Given the description of an element on the screen output the (x, y) to click on. 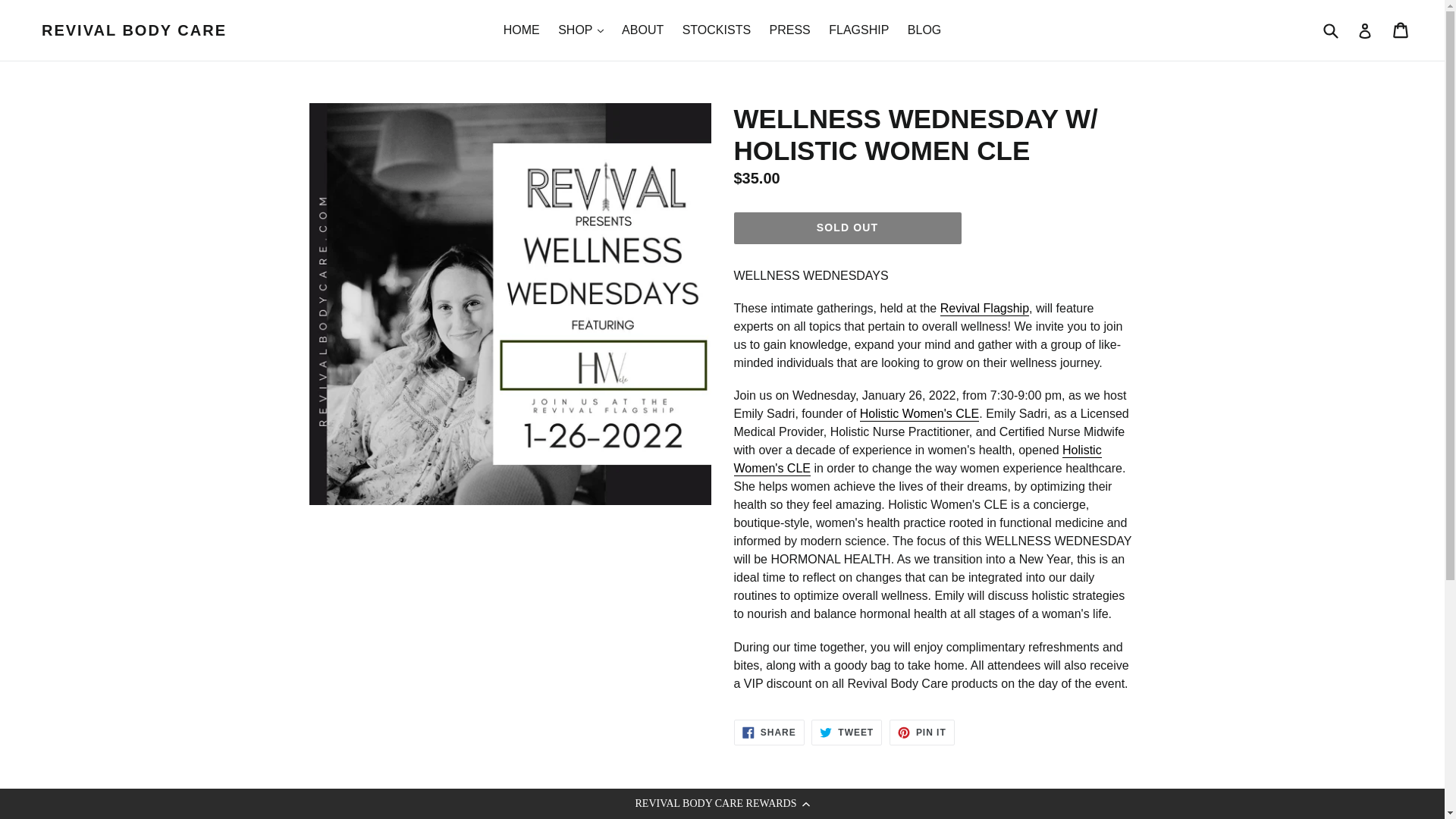
Revival Flagship Store (984, 309)
Tweet on Twitter (846, 732)
Holistic Women's CLE (917, 459)
BLOG (924, 29)
ABOUT (642, 29)
STOCKISTS (716, 29)
Revival Flagship (984, 309)
REVIVAL BODY CARE (134, 30)
Holistic Women's CLE (919, 414)
